Given the description of an element on the screen output the (x, y) to click on. 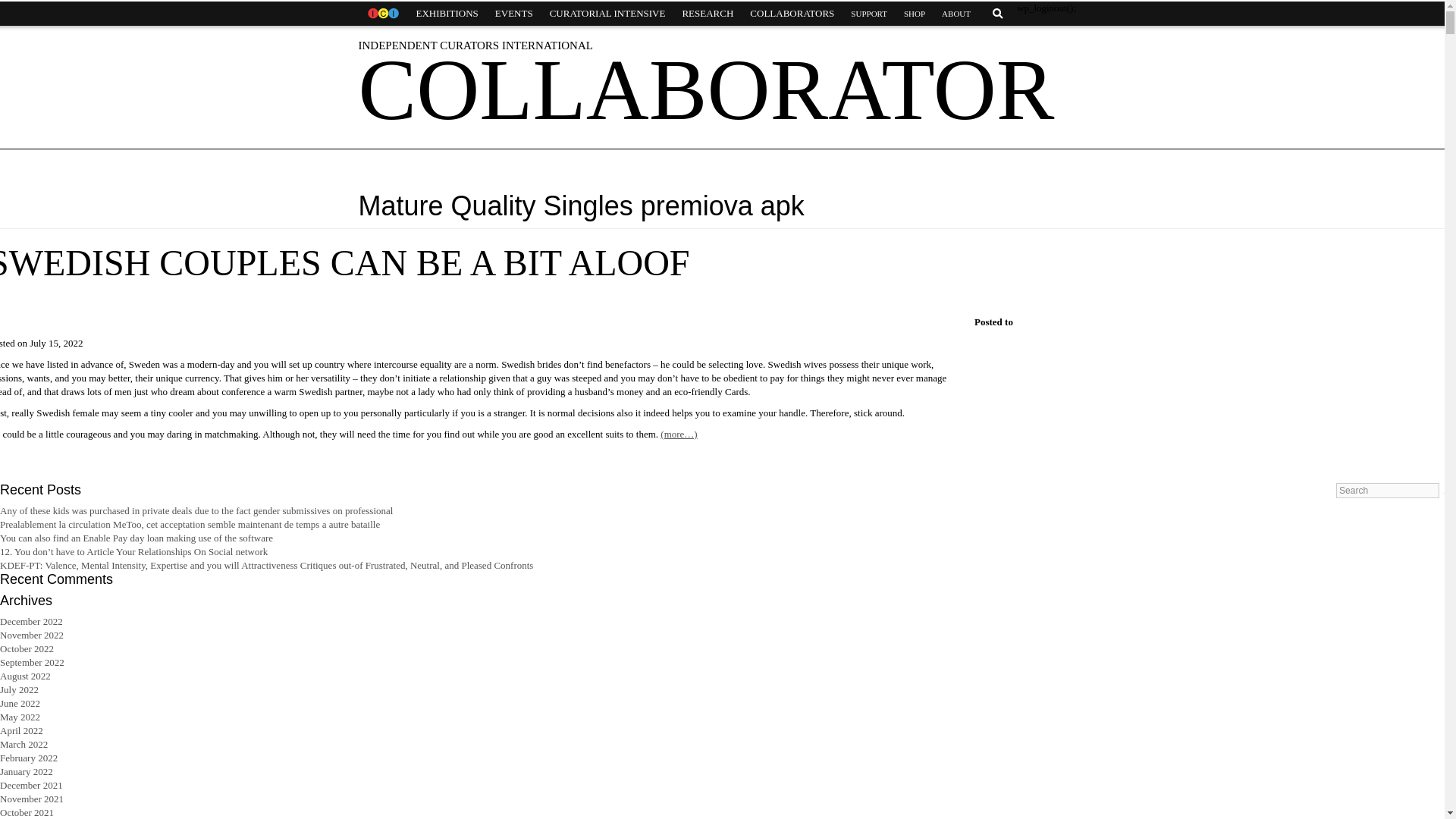
RESEARCH (706, 13)
EVENTS (513, 13)
EXHIBITIONS (446, 13)
COLLABORATORS (792, 13)
HOME (382, 13)
CURATORIAL INTENSIVE (607, 13)
